Given the description of an element on the screen output the (x, y) to click on. 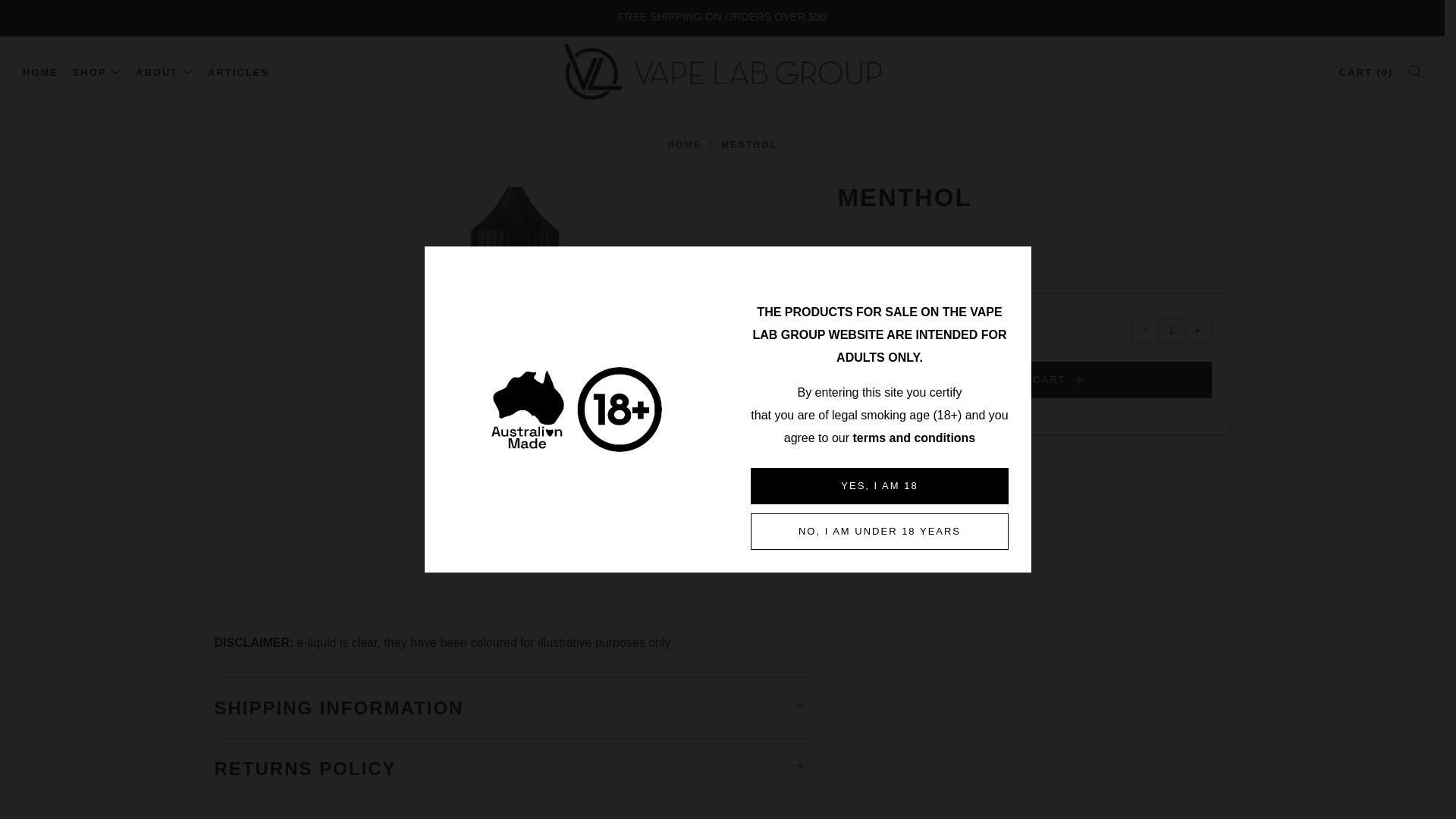
YES, I AM 18 (880, 485)
terms and conditions (913, 437)
1 (1171, 329)
ABOUT (164, 72)
NO, I AM UNDER 18 YEARS (880, 531)
SHOP (97, 72)
HOME (40, 72)
Terms of Service (913, 437)
Home (683, 144)
